Given the description of an element on the screen output the (x, y) to click on. 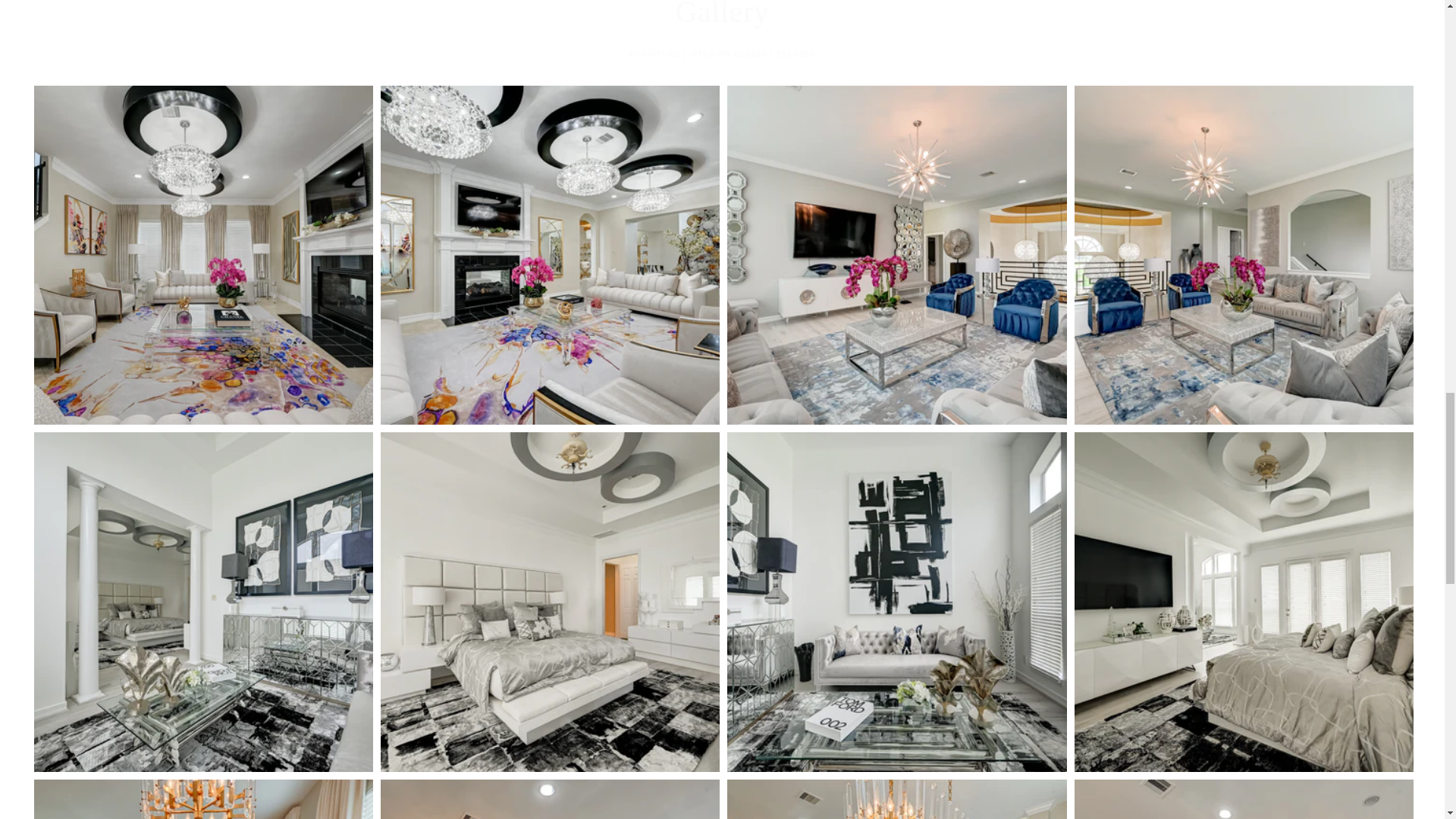
Gallery (721, 15)
